Given the description of an element on the screen output the (x, y) to click on. 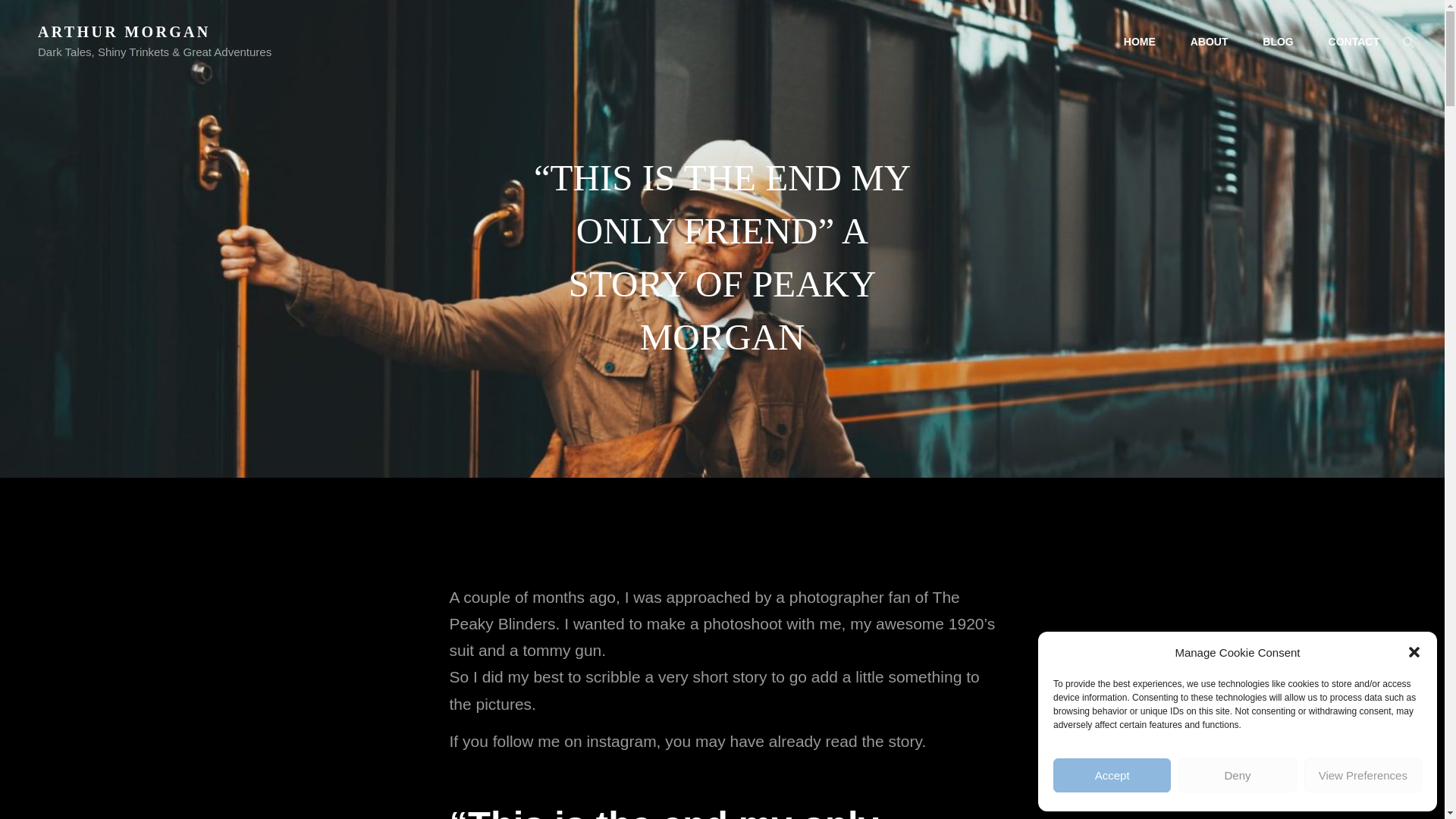
Deny (1236, 775)
CONTACT (1353, 41)
View Preferences (1363, 775)
Accept (1111, 775)
ABOUT (1208, 41)
BLOG (1277, 41)
Search (1408, 41)
ARTHUR MORGAN (124, 31)
HOME (1139, 41)
